Given the description of an element on the screen output the (x, y) to click on. 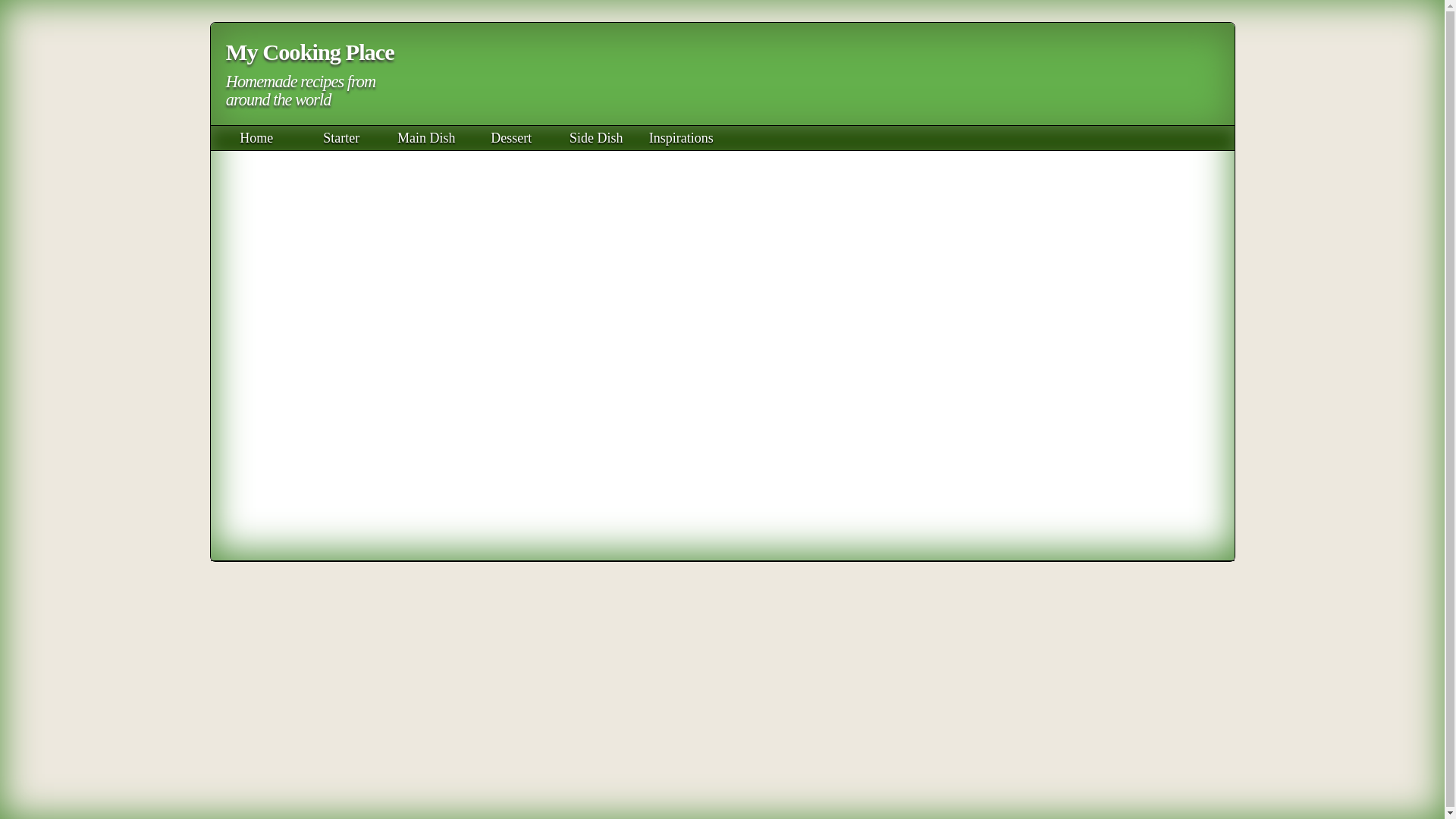
Starter (340, 137)
Main Dish (426, 137)
Dessert (510, 137)
Home (256, 137)
Inspirations (681, 137)
Side Dish (595, 137)
